Given the description of an element on the screen output the (x, y) to click on. 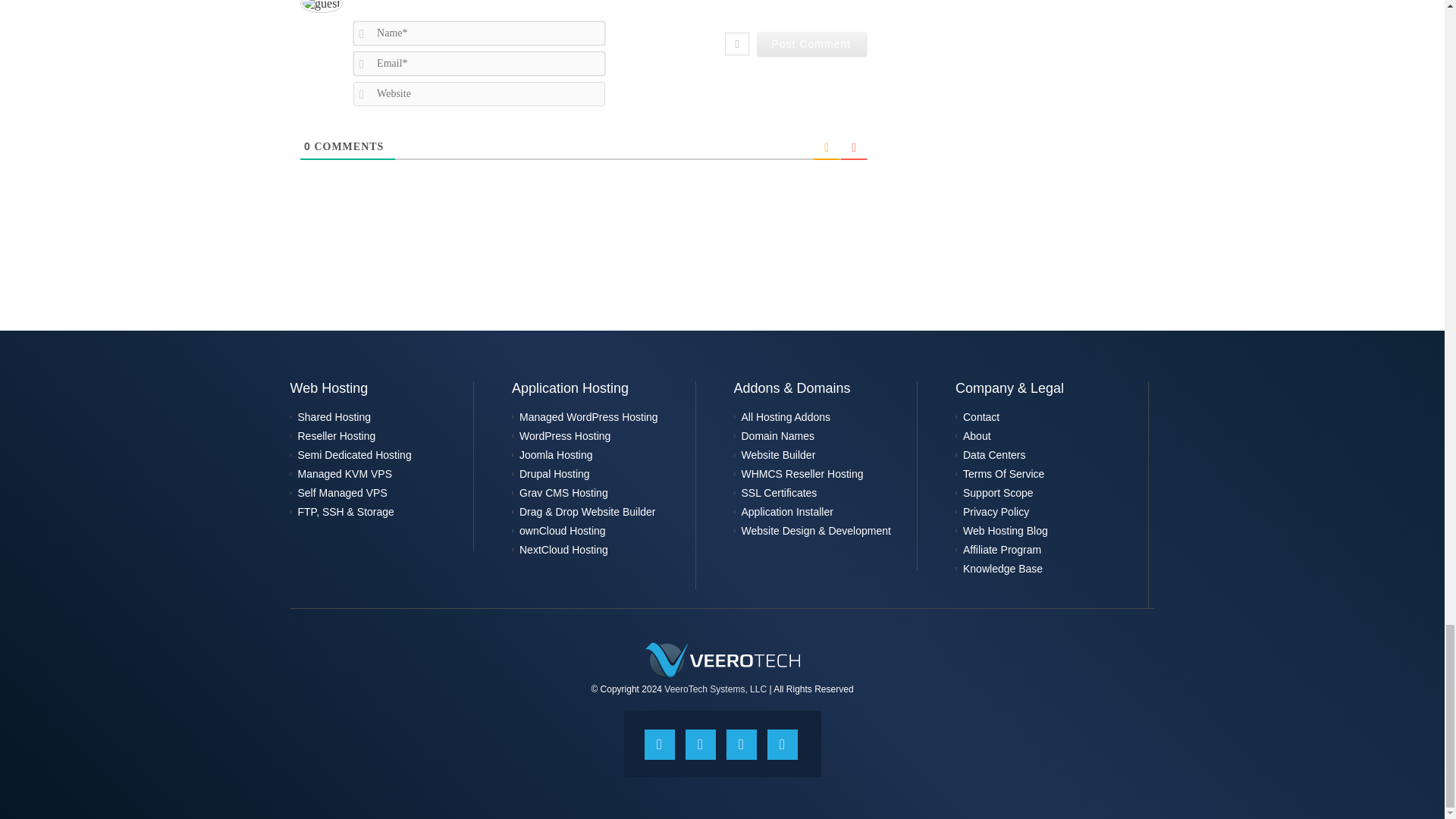
Post Comment (811, 43)
Post Comment (811, 43)
